Given the description of an element on the screen output the (x, y) to click on. 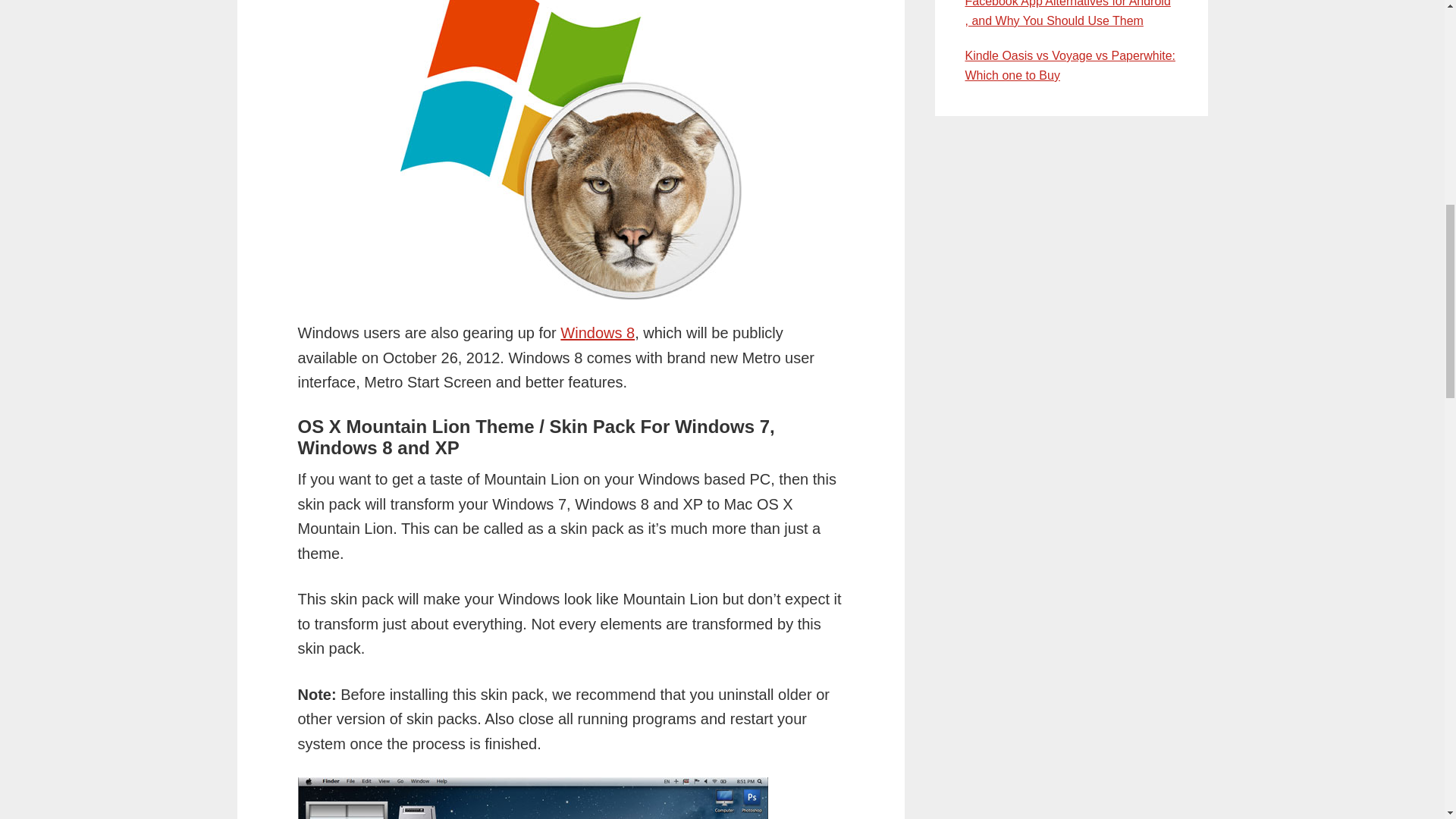
Kindle Oasis vs Voyage vs Paperwhite: Which one to Buy (1068, 65)
Windows 8 (597, 332)
Skin pack (570, 149)
OS X Mountain Lion (532, 798)
